Given the description of an element on the screen output the (x, y) to click on. 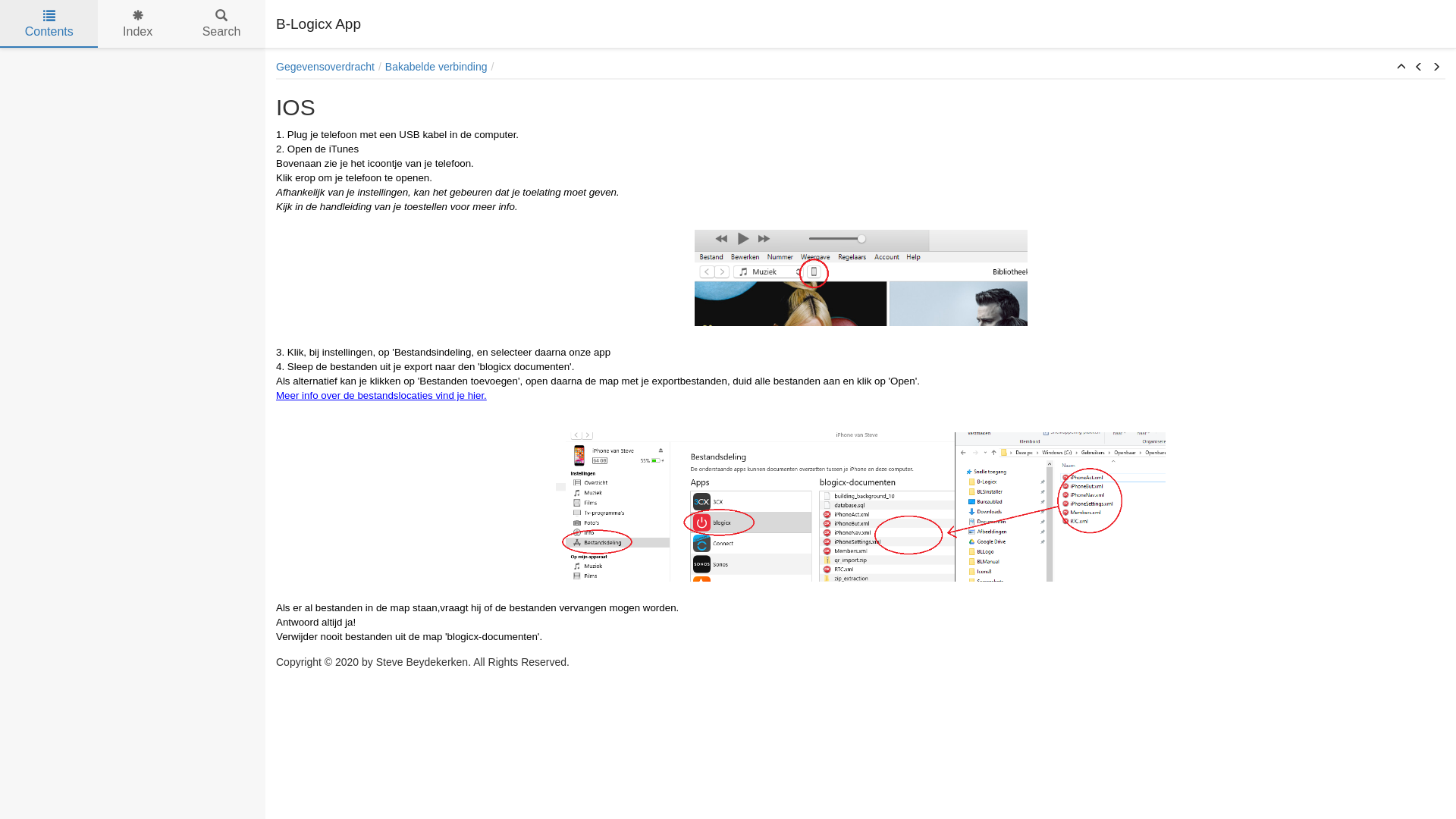
Search Element type: text (221, 23)
Gegevensoverdracht Element type: text (325, 66)
Index Element type: text (137, 23)
Meer info over de bestandslocaties vind je hier. Element type: text (381, 395)
Android Element type: hover (1418, 67)
Bakabelde verbinding Element type: hover (1401, 67)
Bakabelde verbinding Element type: text (436, 66)
Bestandslocaties Element type: hover (1436, 67)
Contents Element type: text (48, 23)
Skip to main content Element type: text (48, 48)
